Given the description of an element on the screen output the (x, y) to click on. 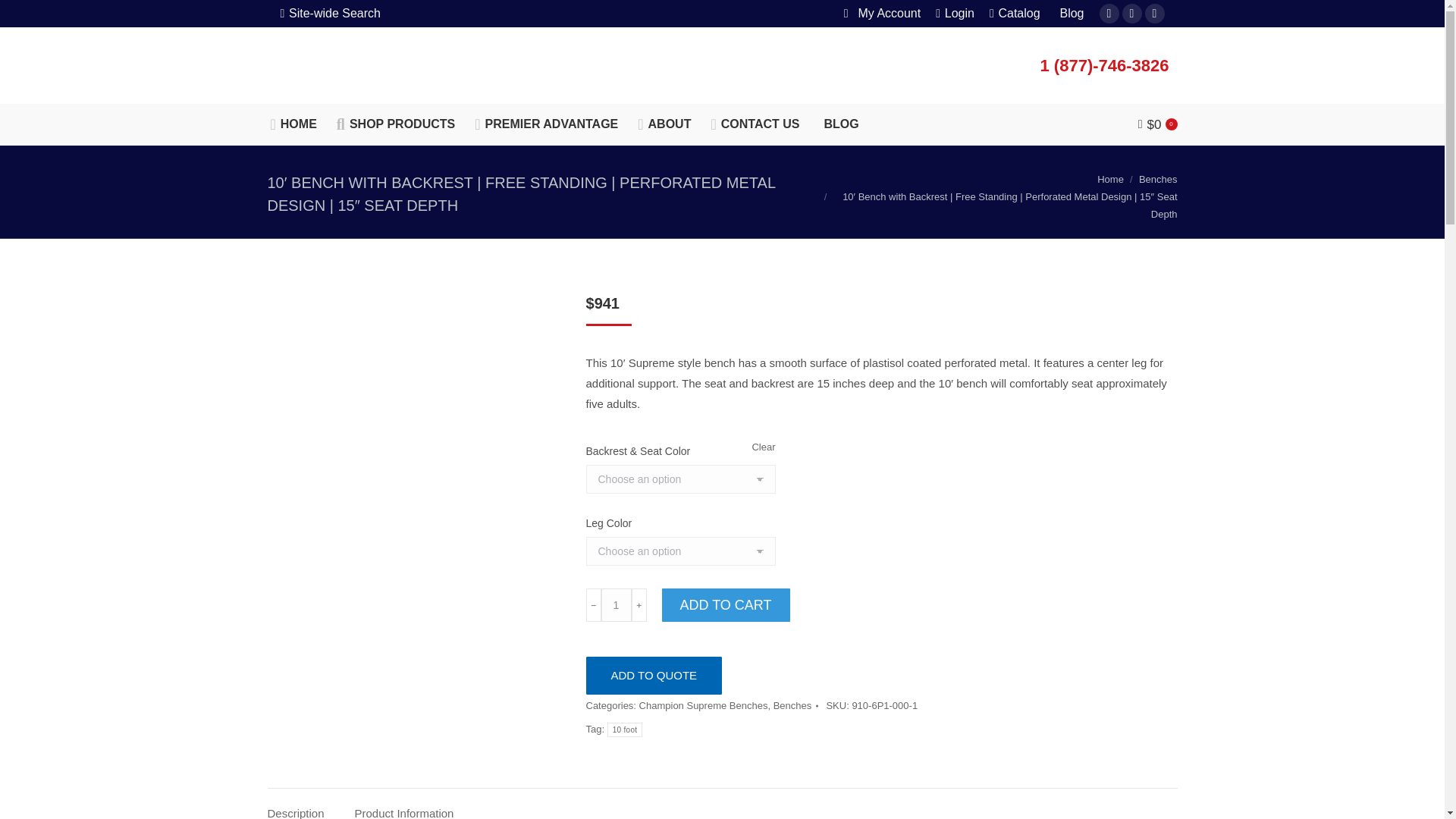
Mail page opens in new window (1154, 13)
Facebook page opens in new window (1109, 13)
SHOP PRODUCTS (395, 124)
Go! (24, 16)
Site-wide Search (331, 13)
Login (955, 13)
HOME (292, 124)
Benches (1157, 179)
Home (1110, 179)
Pinterest page opens in new window (1131, 13)
Mail page opens in new window (1154, 13)
Blog (1069, 13)
Pinterest page opens in new window (1131, 13)
1 (614, 604)
My Account (879, 13)
